Given the description of an element on the screen output the (x, y) to click on. 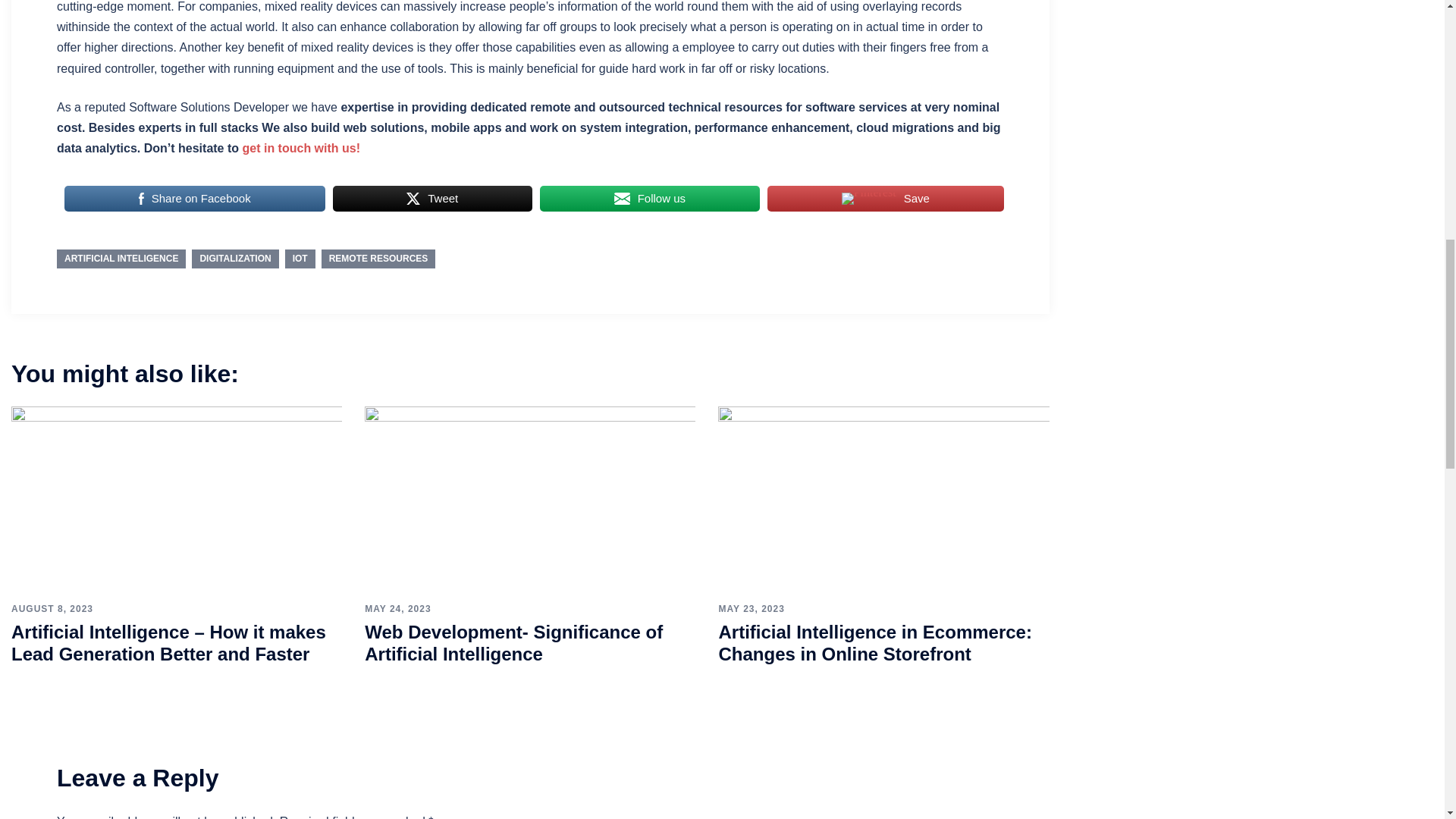
Web Development- Significance of Artificial Intelligence (530, 498)
